Given the description of an element on the screen output the (x, y) to click on. 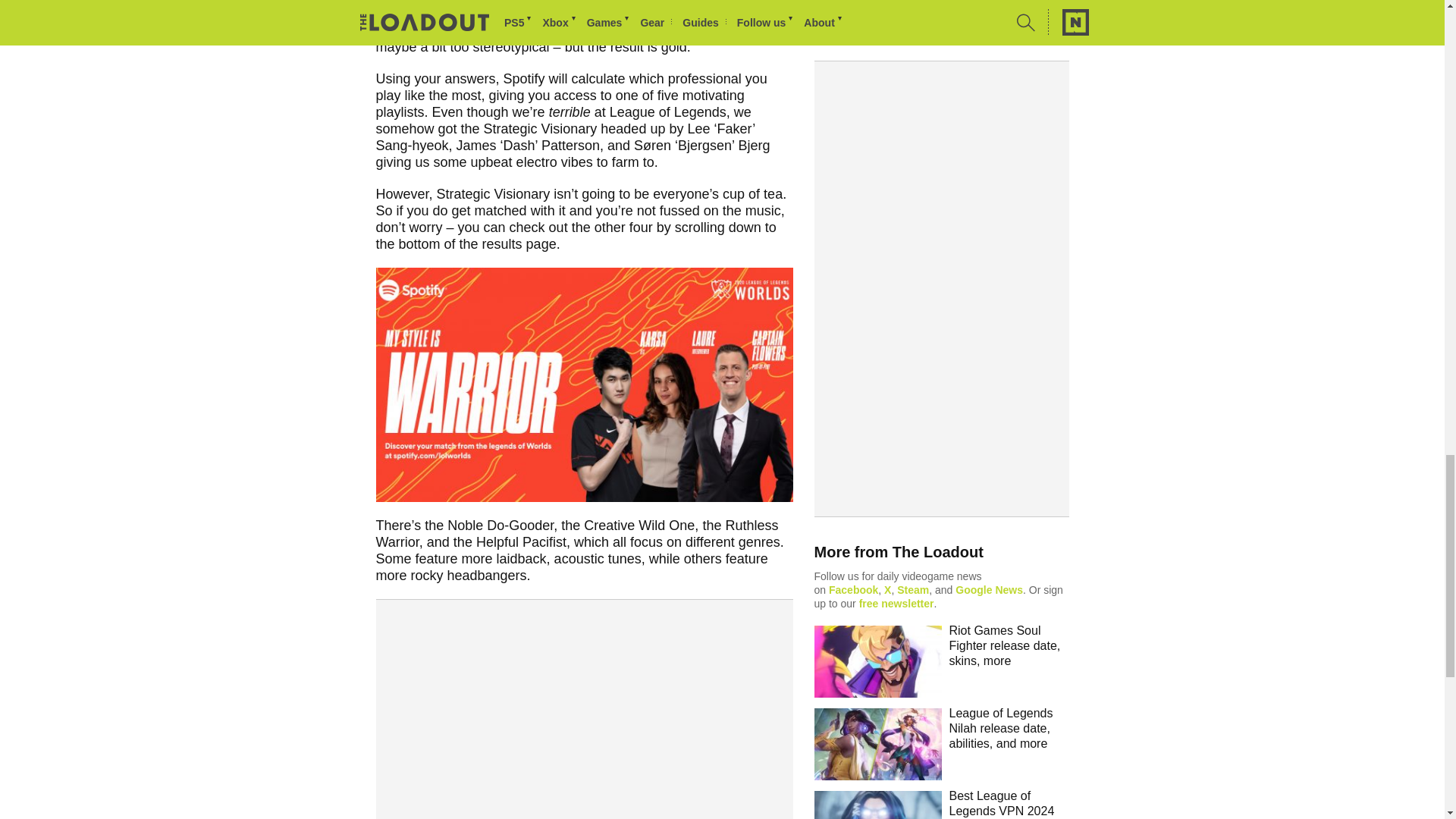
spotify-lol-worlds-quiz (584, 384)
